Given the description of an element on the screen output the (x, y) to click on. 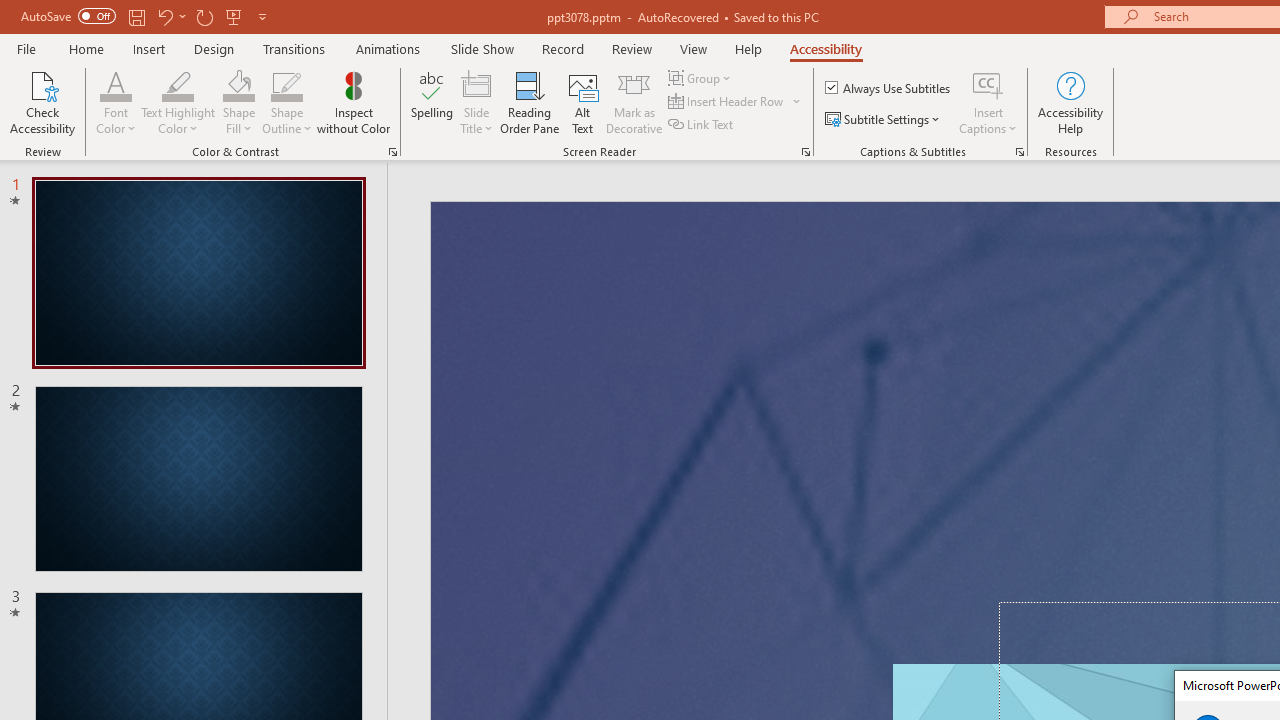
Reading Order Pane (529, 102)
Group (701, 78)
Subtitle Settings (884, 119)
Link Text (702, 124)
Always Use Subtitles (889, 87)
Insert Header Row (735, 101)
